Given the description of an element on the screen output the (x, y) to click on. 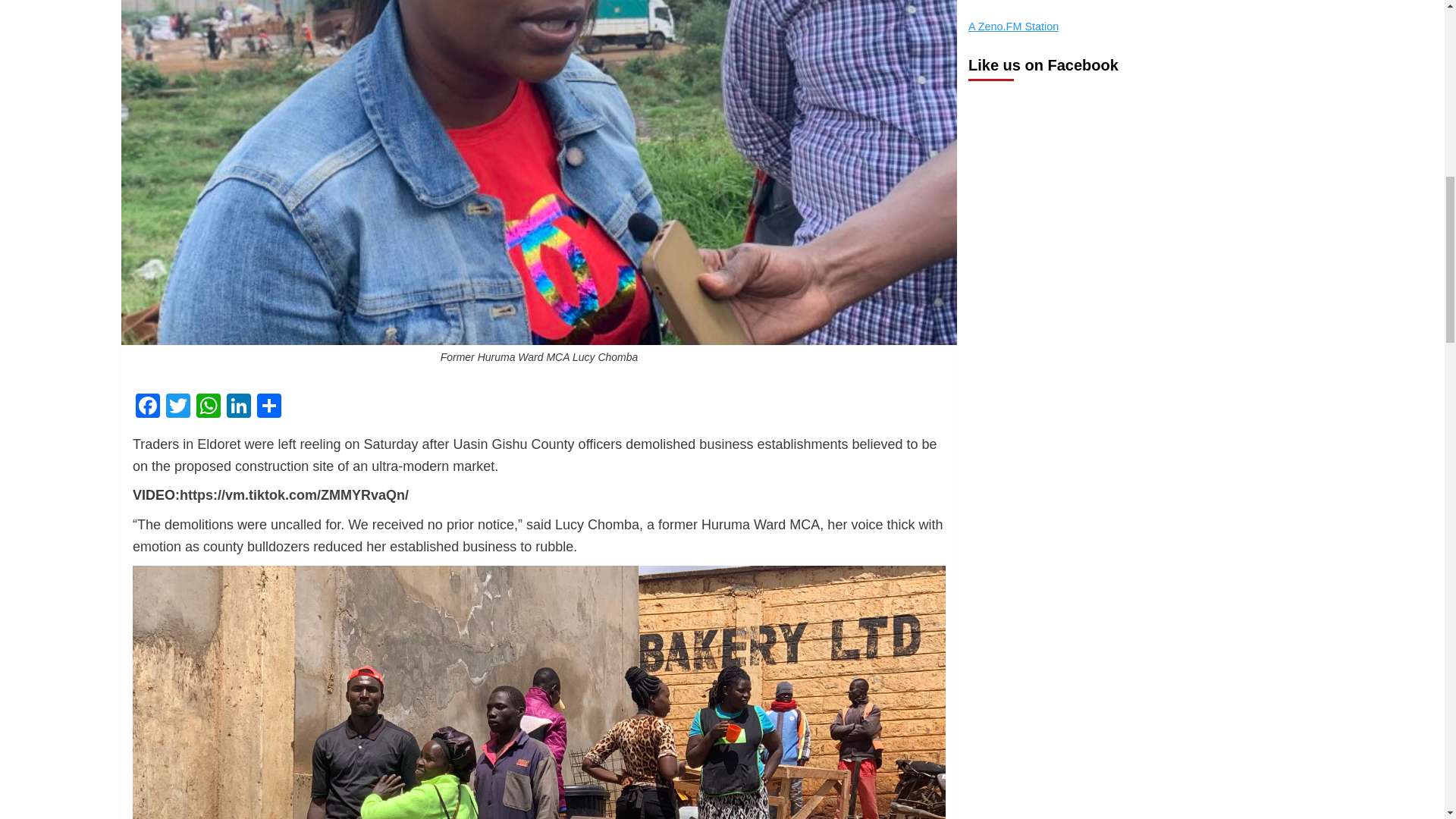
LinkedIn (238, 407)
WhatsApp (208, 407)
Facebook (147, 407)
Facebook (147, 407)
Twitter (178, 407)
Twitter (178, 407)
LinkedIn (238, 407)
Share (268, 407)
WhatsApp (208, 407)
